Given the description of an element on the screen output the (x, y) to click on. 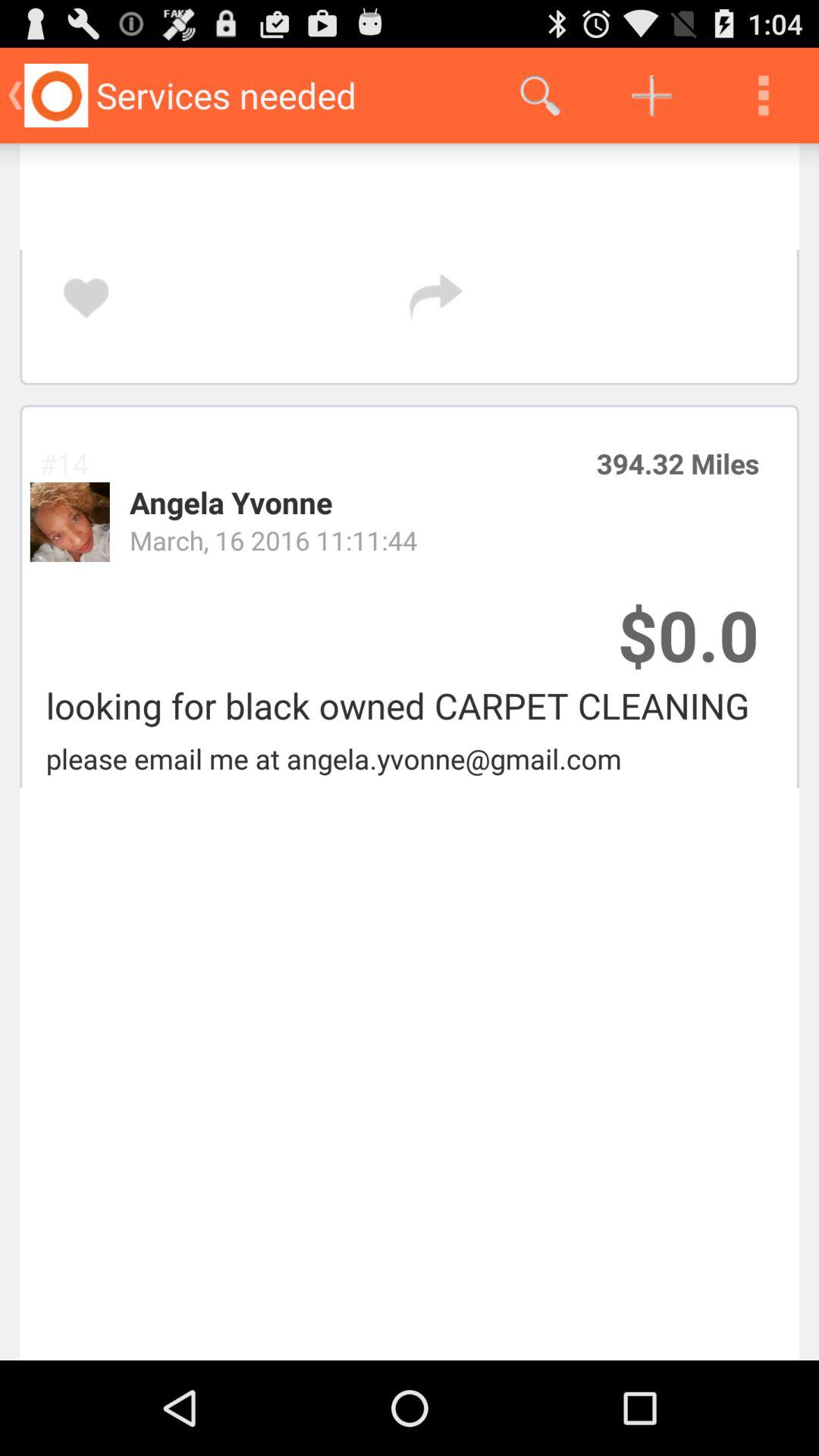
click on the image below 14 (69, 521)
click on  symbol next to search symbol on the top right  of the page (651, 95)
